Given the description of an element on the screen output the (x, y) to click on. 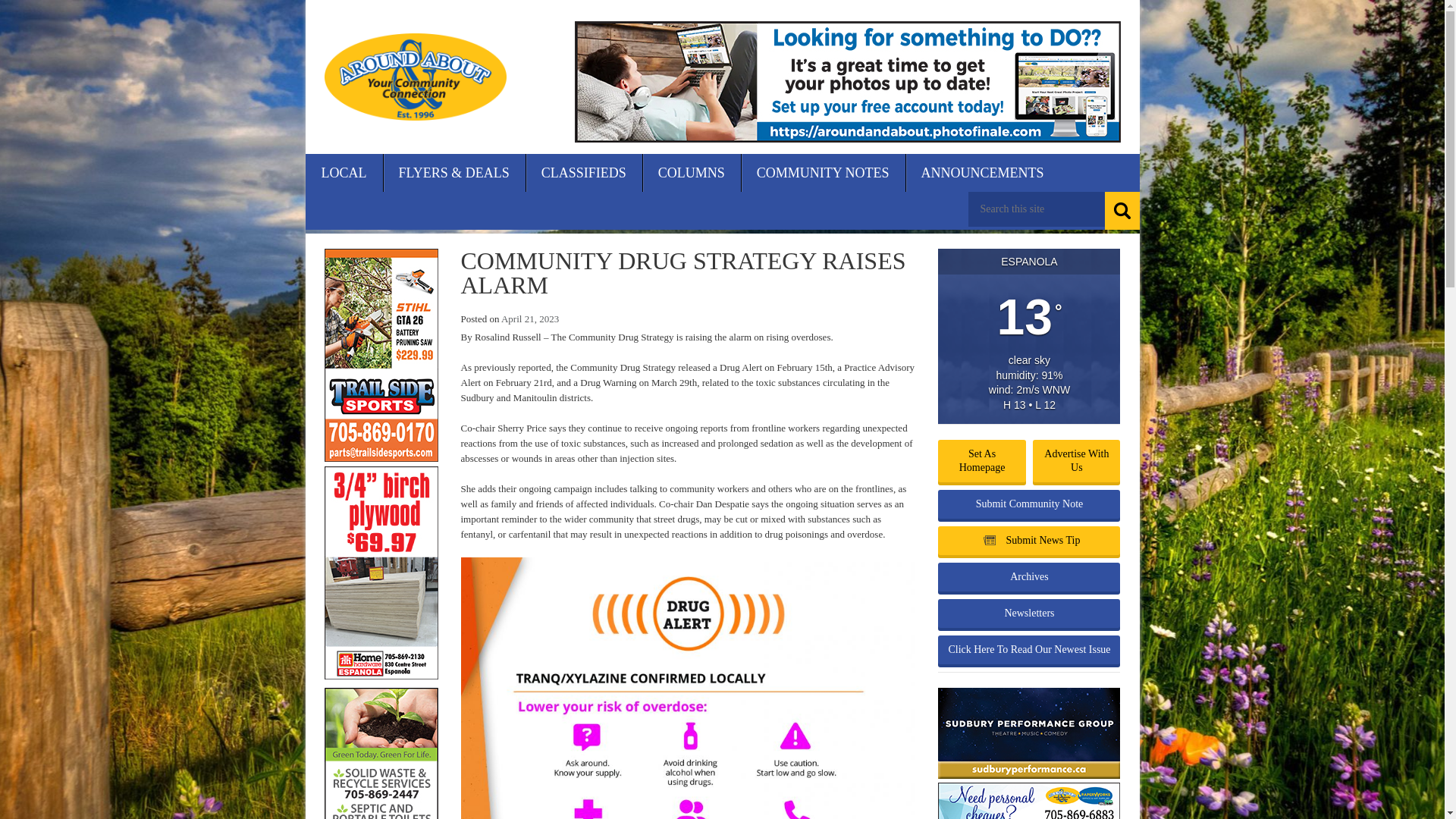
Advertise With Us (1075, 460)
Set As Homepage (981, 460)
COMMUNITY NOTES (823, 172)
LOCAL (342, 172)
COLUMNS (691, 172)
8:55 am (529, 318)
April 21, 2023 (529, 318)
Submit Community Note (1028, 503)
CLASSIFIEDS (583, 172)
ANNOUNCEMENTS (982, 172)
